Given the description of an element on the screen output the (x, y) to click on. 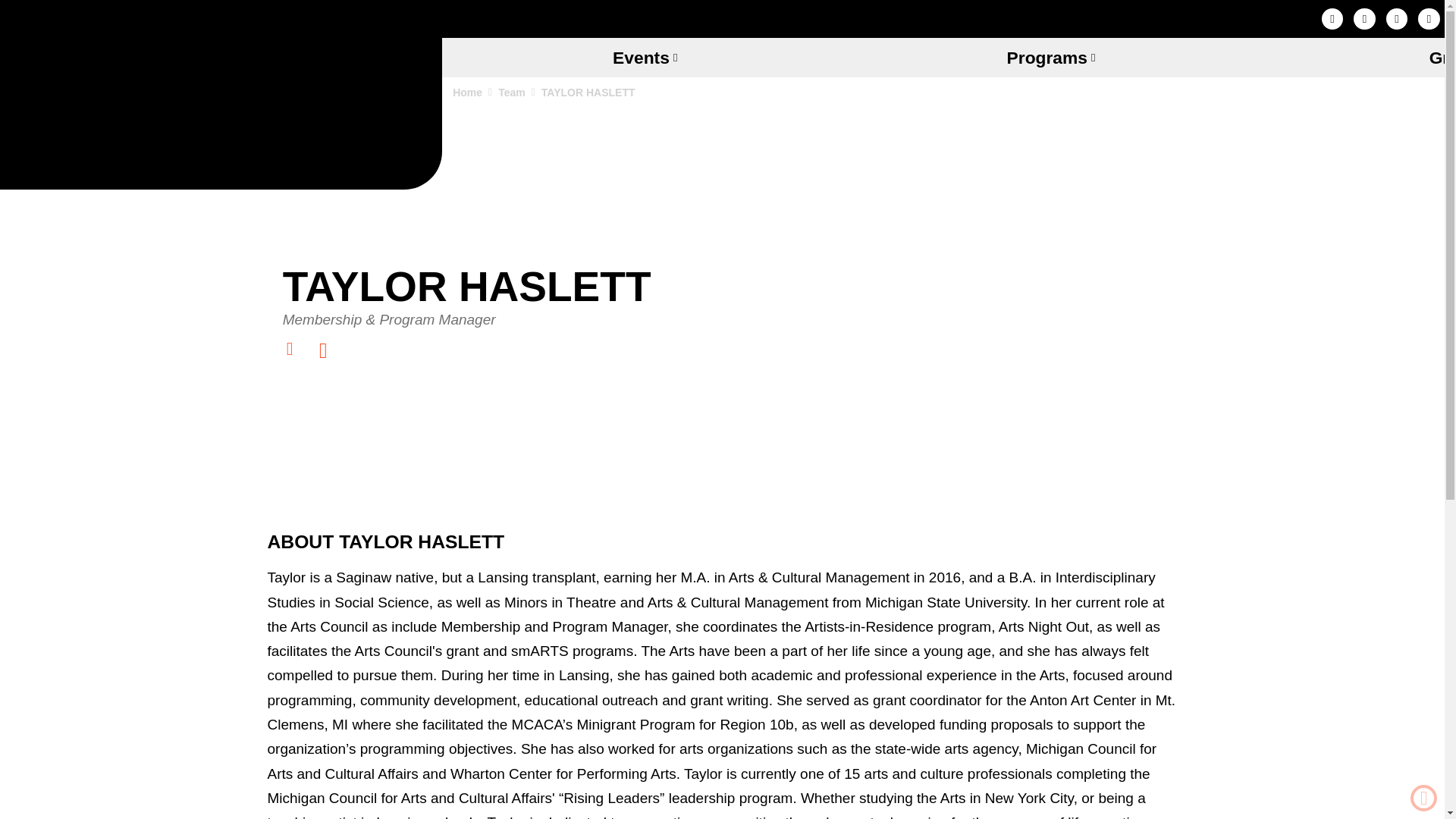
You Are Here (587, 91)
Back to Top (1423, 797)
Programs (1050, 56)
You Are Here (417, 101)
Grants (1354, 56)
Events (644, 56)
